Given the description of an element on the screen output the (x, y) to click on. 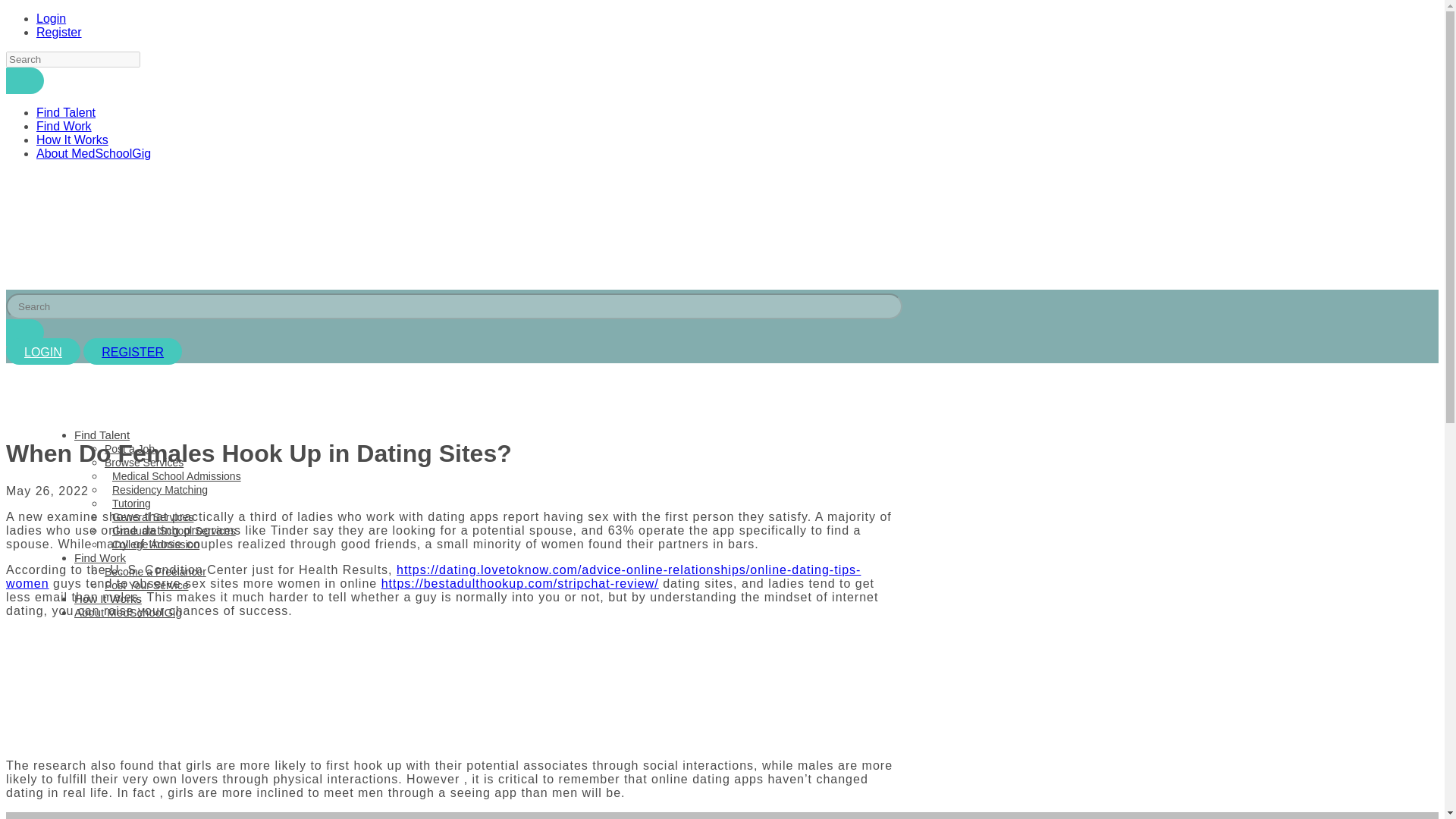
How It Works (71, 139)
Tutoring (127, 503)
Find Talent (66, 112)
Post Your Service (146, 585)
Post a Job (129, 449)
About MedSchoolGig (93, 153)
Graduate School Services (169, 530)
Medical School Admissions (172, 476)
How It Works (107, 598)
About MedSchoolGig (128, 612)
Find Work (99, 557)
Find Talent (101, 434)
REGISTER (132, 351)
Become a Freelancer (155, 571)
Login (50, 18)
